Given the description of an element on the screen output the (x, y) to click on. 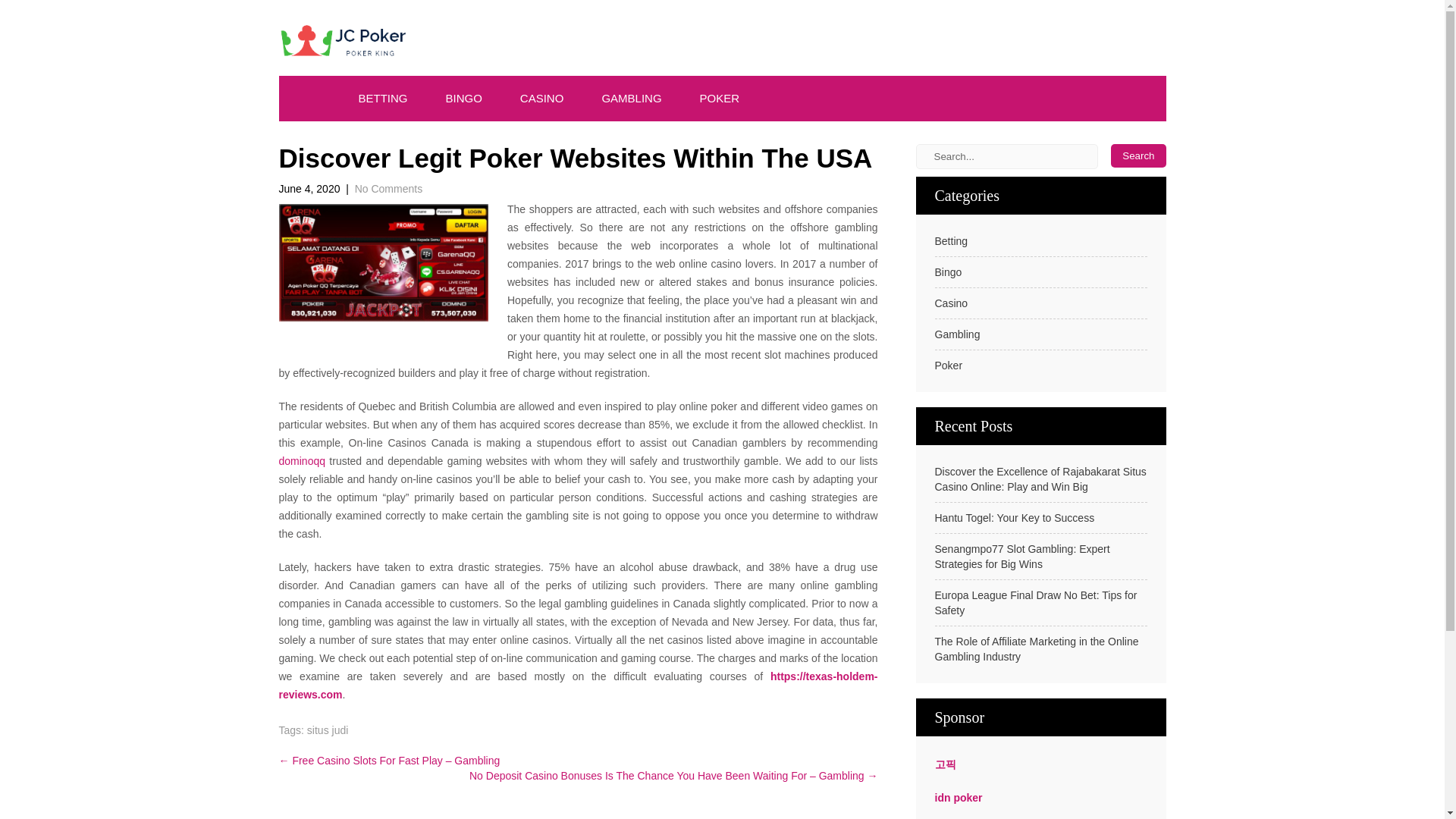
Poker (948, 365)
GAMBLING (630, 98)
situs judi (327, 729)
BINGO (463, 98)
No Comments (388, 187)
Search (1138, 155)
idn poker (957, 797)
BETTING (382, 98)
Senangmpo77 Slot Gambling: Expert Strategies for Big Wins (1040, 556)
Bingo (947, 272)
dominoqq (302, 460)
POKER (719, 98)
Search (1138, 155)
